Given the description of an element on the screen output the (x, y) to click on. 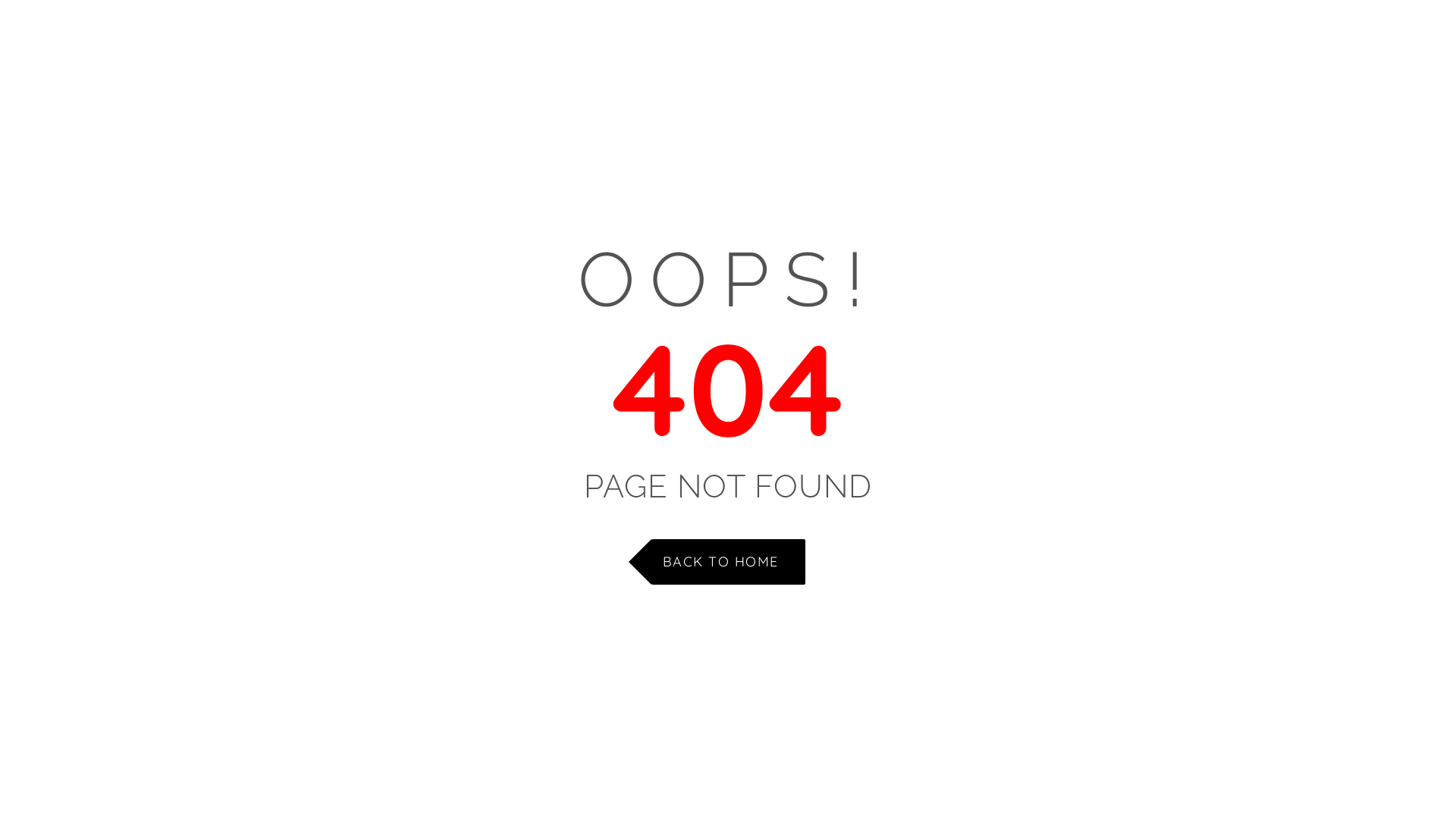
BACK TO HOME Element type: text (727, 560)
